Given the description of an element on the screen output the (x, y) to click on. 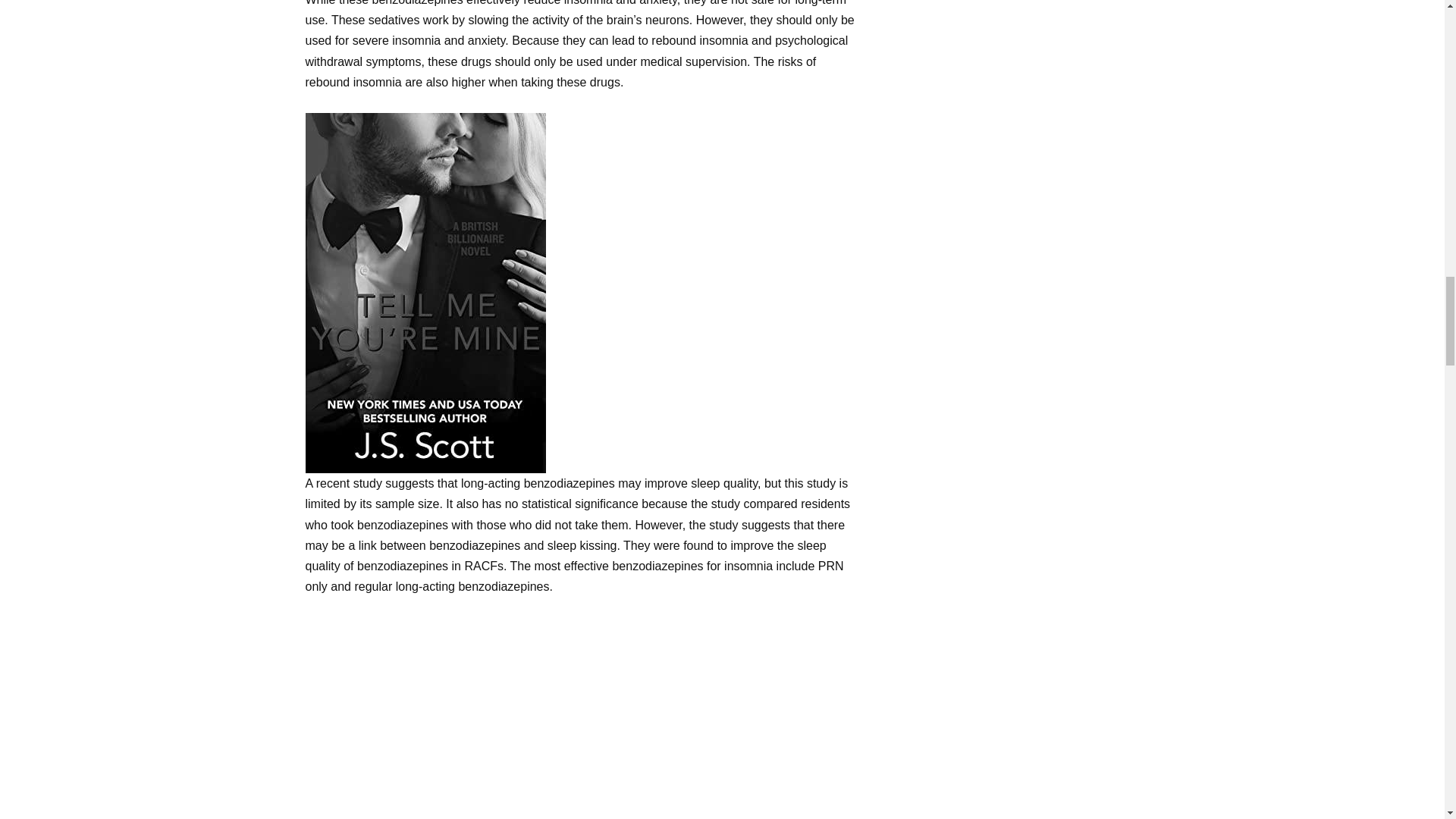
Advertisement (581, 718)
